Given the description of an element on the screen output the (x, y) to click on. 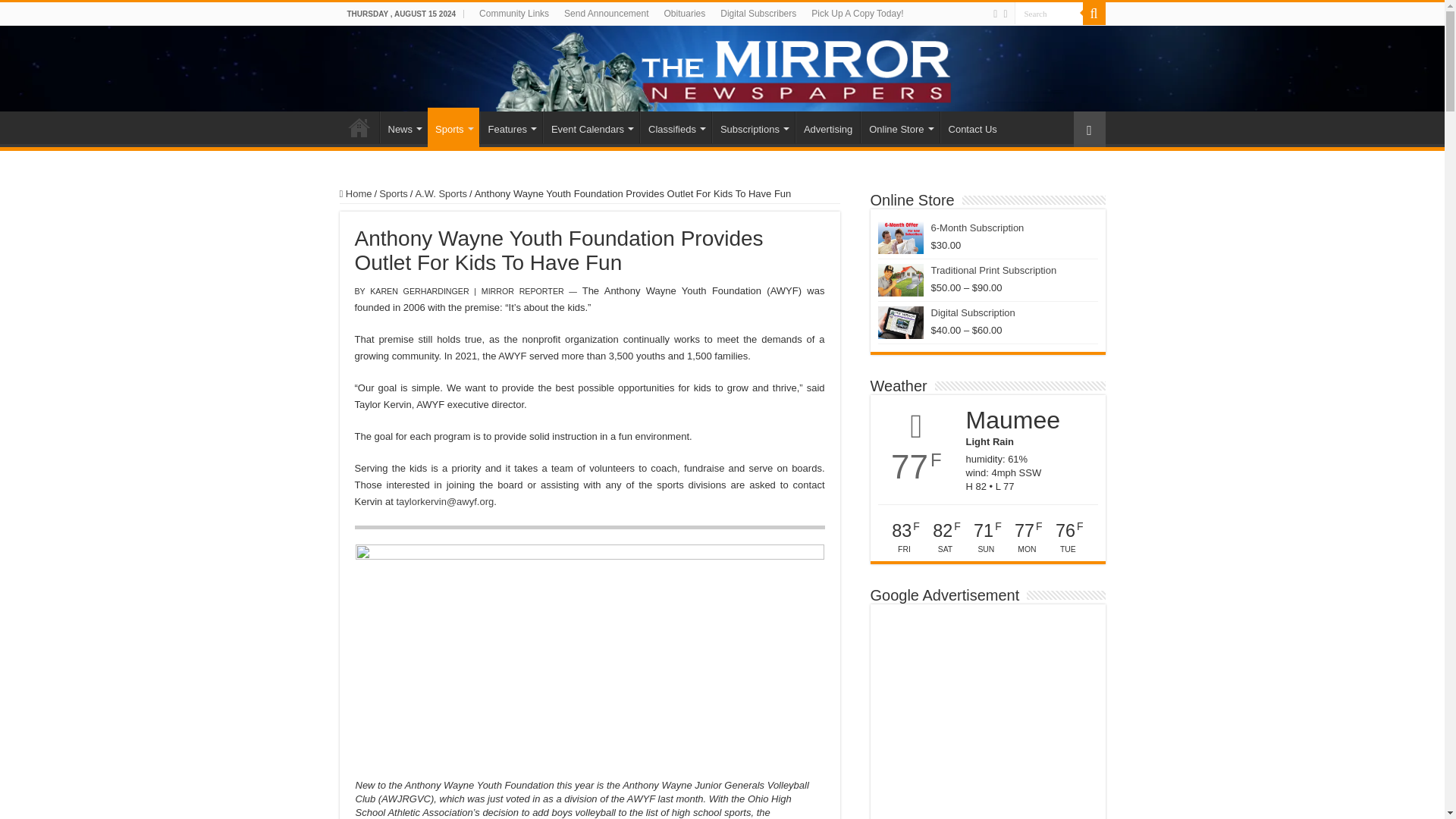
Search (1048, 13)
Advertisement (986, 715)
Search (1048, 13)
Search (1048, 13)
The Mirror Newspapers (722, 68)
